Given the description of an element on the screen output the (x, y) to click on. 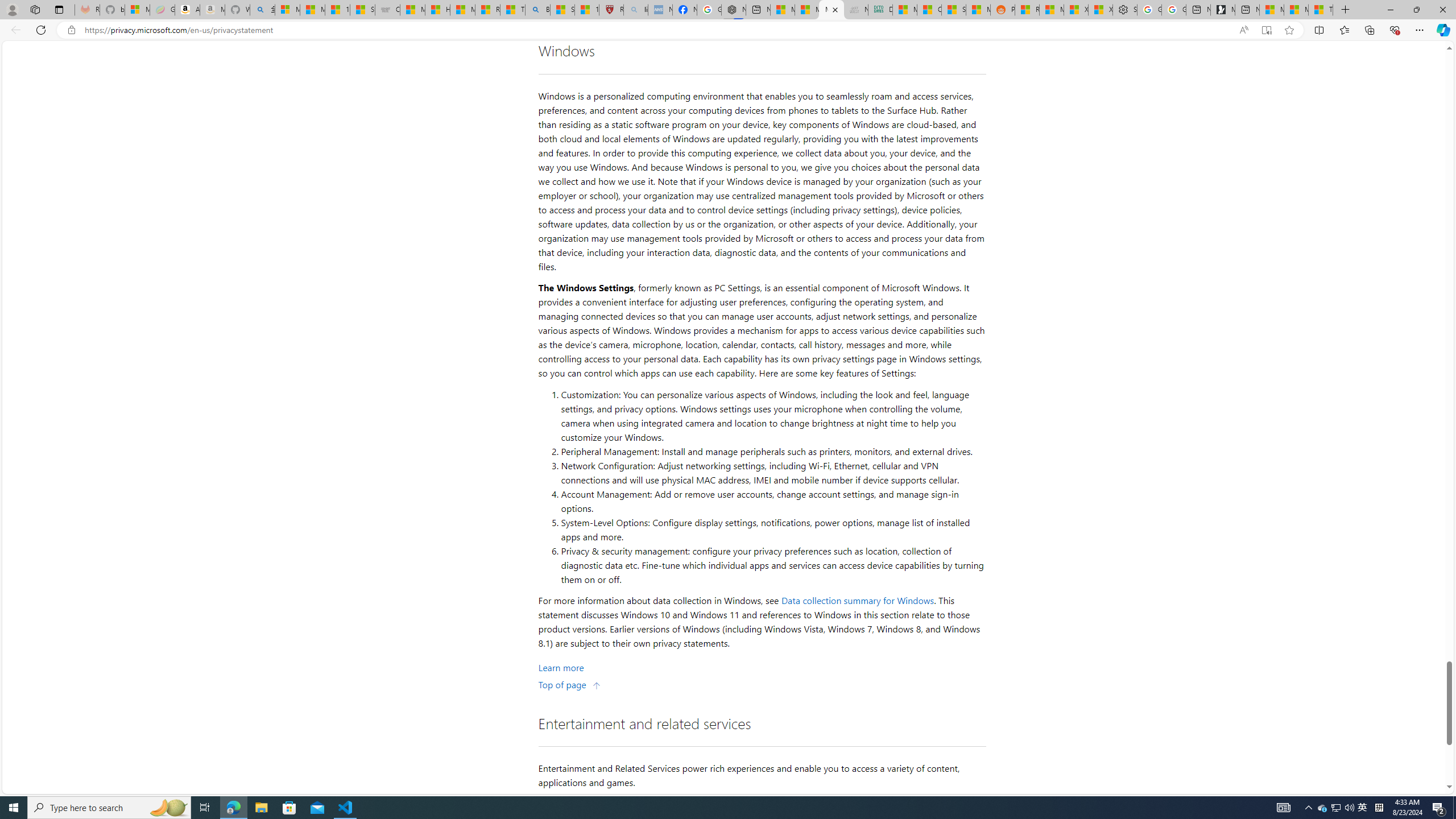
Learn More about Windows (560, 667)
